Given the description of an element on the screen output the (x, y) to click on. 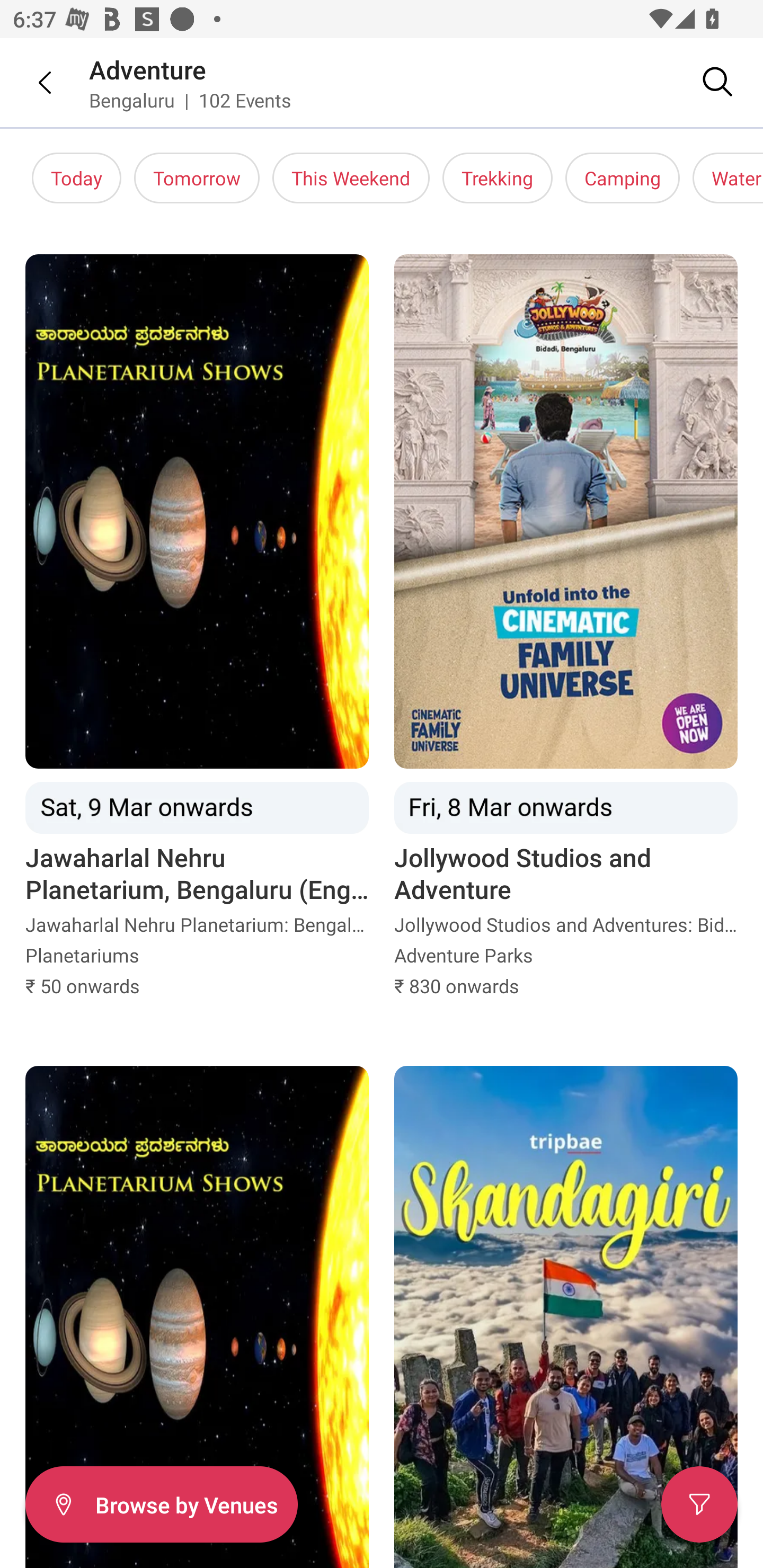
Back (31, 82)
Adventure (147, 68)
Bengaluru  |  102 Events (190, 99)
Today (76, 177)
Tomorrow (196, 177)
This Weekend (350, 177)
Trekking (497, 177)
Camping (622, 177)
Filter Browse by Venues (161, 1504)
Filter (699, 1504)
